Given the description of an element on the screen output the (x, y) to click on. 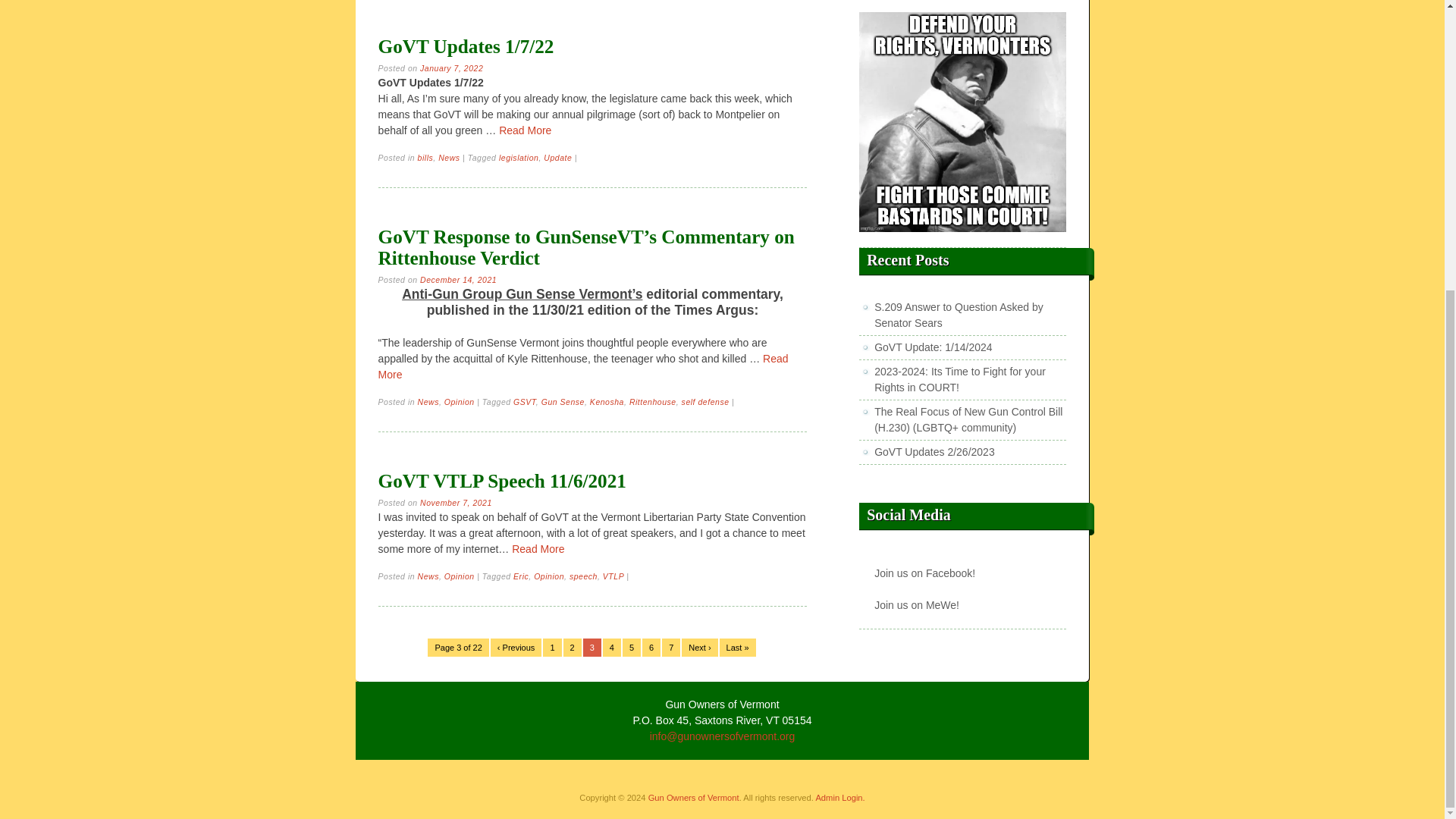
News (449, 157)
GSVT (524, 401)
Read More (525, 130)
Update (557, 157)
December 14, 2021 (458, 279)
8:17 pm (458, 279)
Rittenhouse (652, 401)
January 7, 2022 (451, 67)
legislation (518, 157)
Read More (583, 366)
1:48 pm (456, 501)
bills (425, 157)
self defense (705, 401)
Opinion (459, 401)
8:34 pm (451, 67)
